Given the description of an element on the screen output the (x, y) to click on. 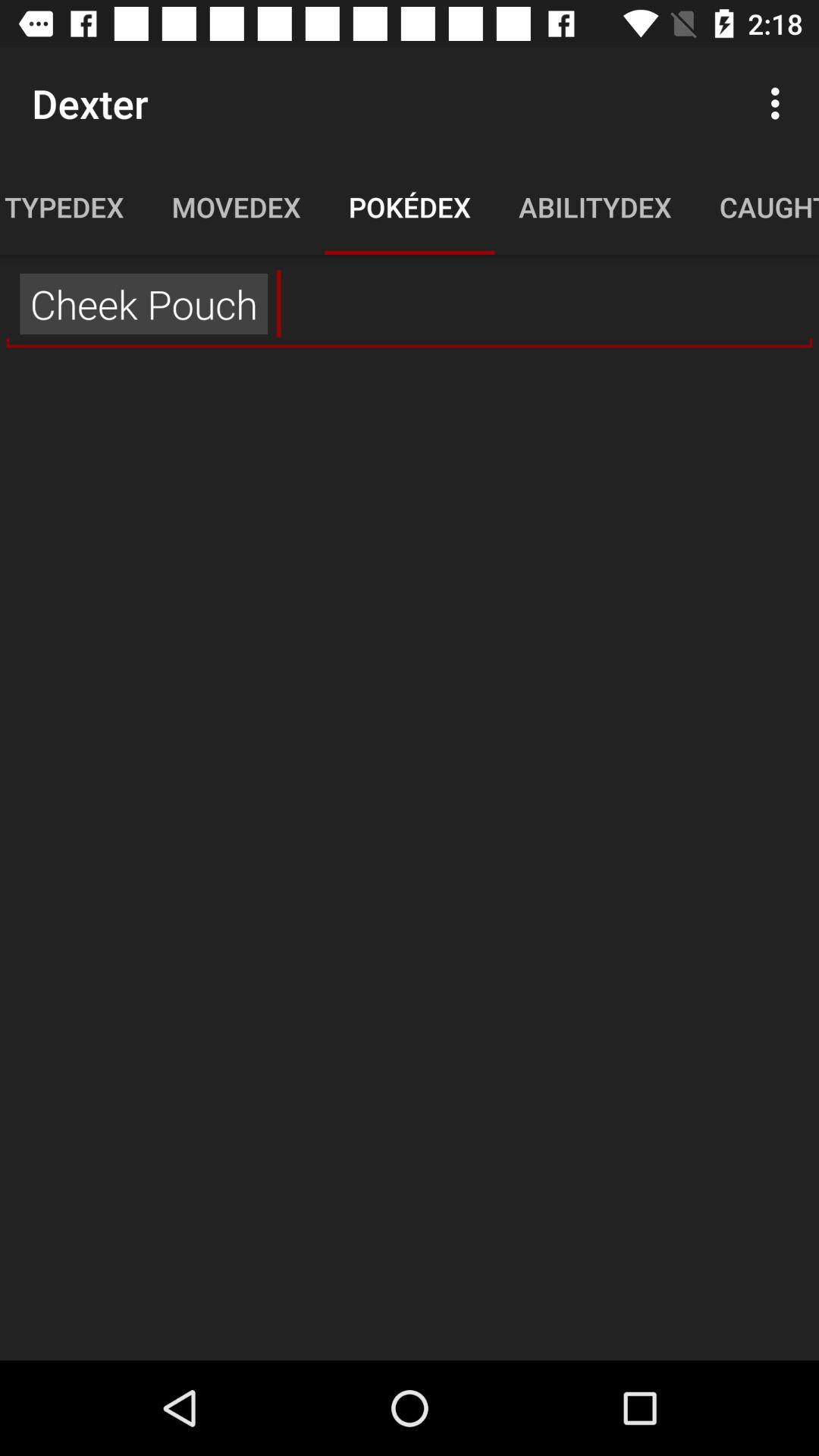
press the ,,  item (409, 304)
